Given the description of an element on the screen output the (x, y) to click on. 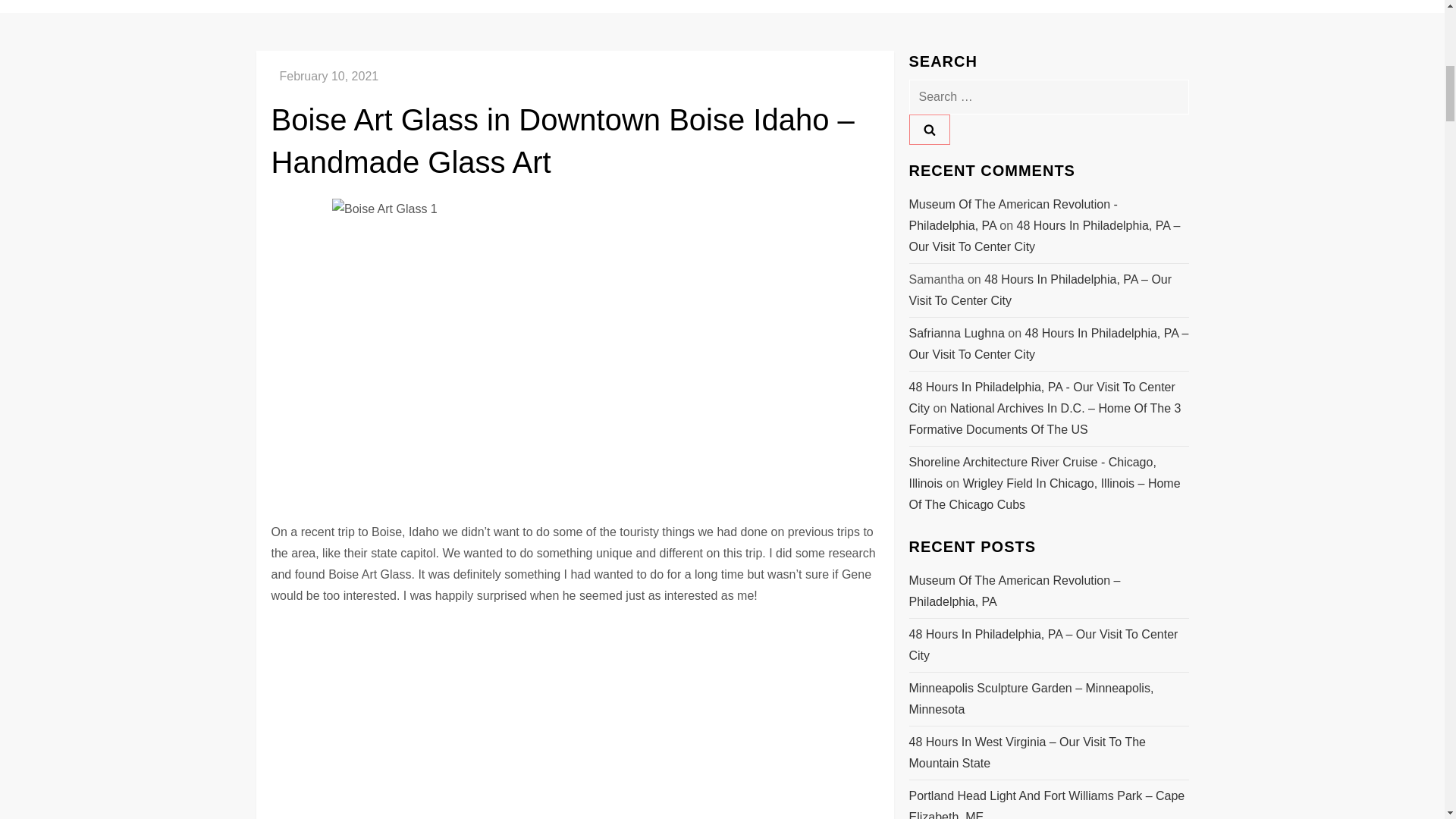
TRAVEL NEWS, DEALS, AND TIPS FROM GOLDEN AGE TRAVELING (721, 6)
February 10, 2021 (328, 75)
